Given the description of an element on the screen output the (x, y) to click on. 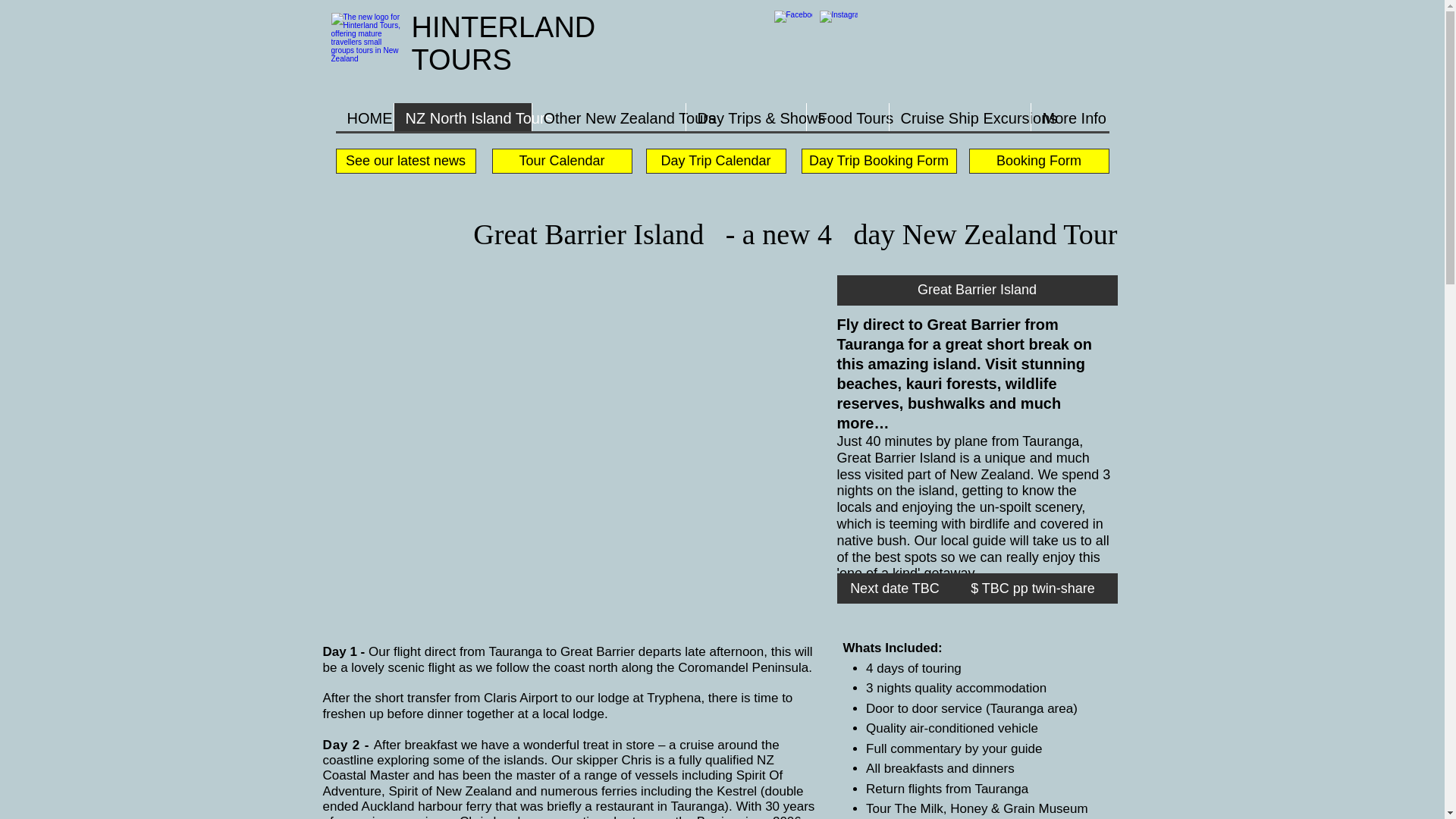
HINTERLAND TOURS (502, 43)
NZ North Island Tours (462, 118)
koru grey v2.png (368, 47)
HOME (363, 118)
Other New Zealand Tours (607, 118)
